Given the description of an element on the screen output the (x, y) to click on. 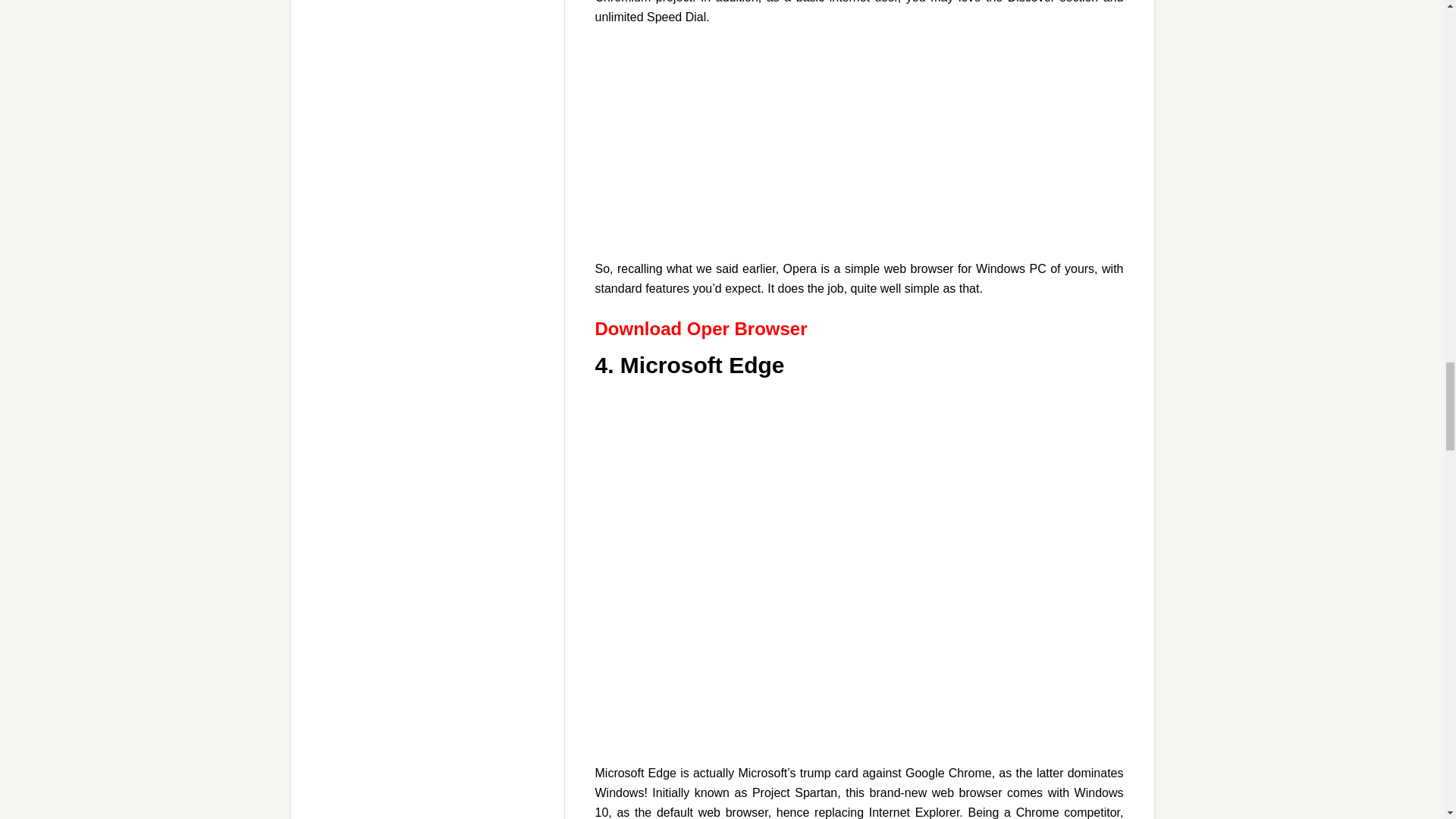
Download Oper Browser (700, 328)
